Given the description of an element on the screen output the (x, y) to click on. 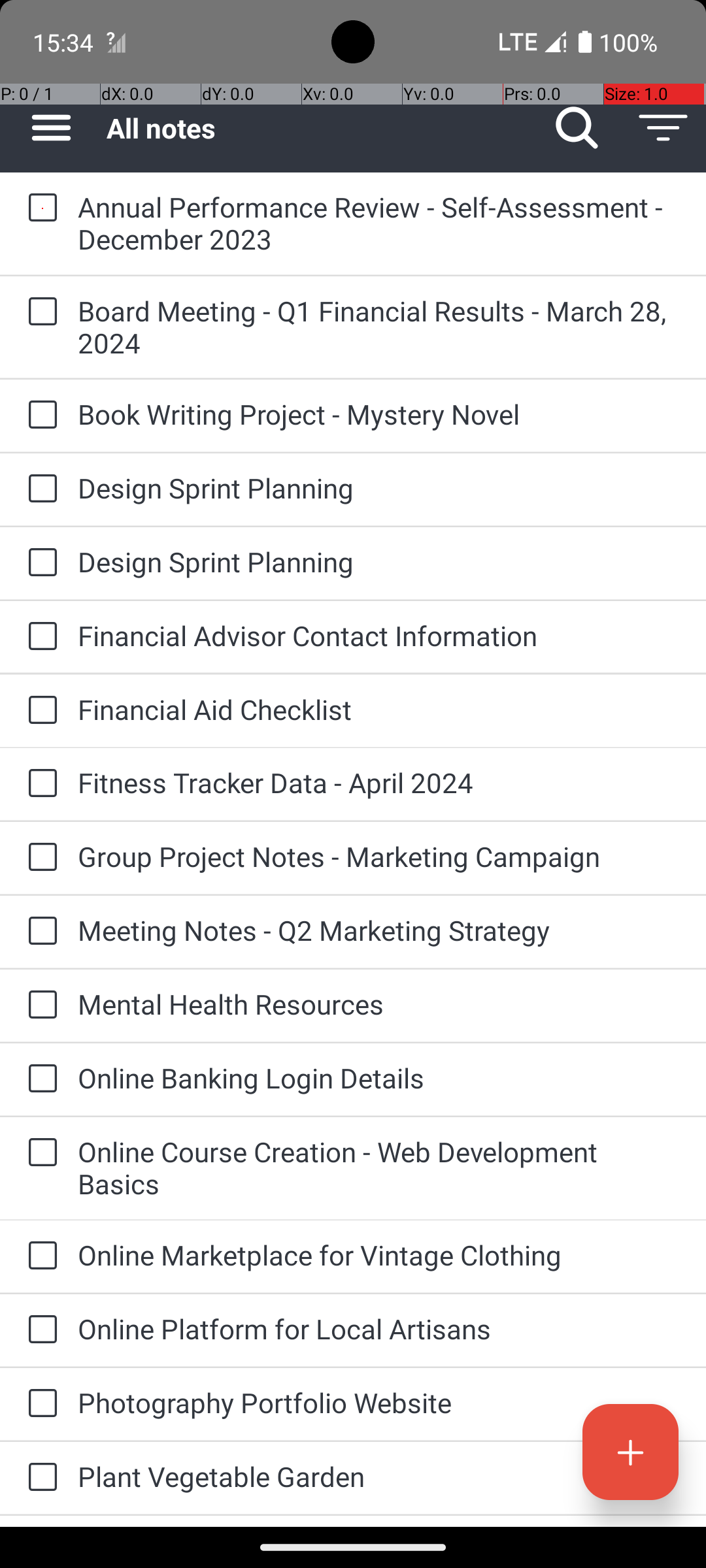
to-do: Board Meeting - Q1 Financial Results - March 28, 2024 Element type: android.widget.CheckBox (38, 312)
Board Meeting - Q1 Financial Results - March 28, 2024 Element type: android.widget.TextView (378, 326)
to-do: Book Writing Project - Mystery Novel Element type: android.widget.CheckBox (38, 415)
Book Writing Project - Mystery Novel Element type: android.widget.TextView (378, 413)
to-do: Design Sprint Planning Element type: android.widget.CheckBox (38, 489)
Design Sprint Planning Element type: android.widget.TextView (378, 487)
to-do: Financial Aid Checklist Element type: android.widget.CheckBox (38, 710)
Financial Aid Checklist Element type: android.widget.TextView (378, 708)
to-do: Fitness Tracker Data - April 2024 Element type: android.widget.CheckBox (38, 783)
Fitness Tracker Data - April 2024 Element type: android.widget.TextView (378, 781)
to-do: Meeting Notes - Q2 Marketing Strategy Element type: android.widget.CheckBox (38, 931)
Meeting Notes - Q2 Marketing Strategy Element type: android.widget.TextView (378, 929)
to-do: Mental Health Resources Element type: android.widget.CheckBox (38, 1005)
Mental Health Resources Element type: android.widget.TextView (378, 1003)
to-do: Online Banking Login Details Element type: android.widget.CheckBox (38, 1079)
Online Banking Login Details Element type: android.widget.TextView (378, 1077)
to-do: Online Course Creation - Web Development Basics Element type: android.widget.CheckBox (38, 1153)
Online Course Creation - Web Development Basics Element type: android.widget.TextView (378, 1167)
to-do: Online Marketplace for Vintage Clothing Element type: android.widget.CheckBox (38, 1256)
Online Marketplace for Vintage Clothing Element type: android.widget.TextView (378, 1254)
to-do: Online Platform for Local Artisans Element type: android.widget.CheckBox (38, 1330)
Online Platform for Local Artisans Element type: android.widget.TextView (378, 1328)
to-do: Photography Portfolio Website Element type: android.widget.CheckBox (38, 1404)
Photography Portfolio Website Element type: android.widget.TextView (378, 1402)
to-do: Plant Vegetable Garden Element type: android.widget.CheckBox (38, 1477)
Plant Vegetable Garden Element type: android.widget.TextView (378, 1475)
to-do: Quarterly Sales Meeting Element type: android.widget.CheckBox (38, 1520)
